Given the description of an element on the screen output the (x, y) to click on. 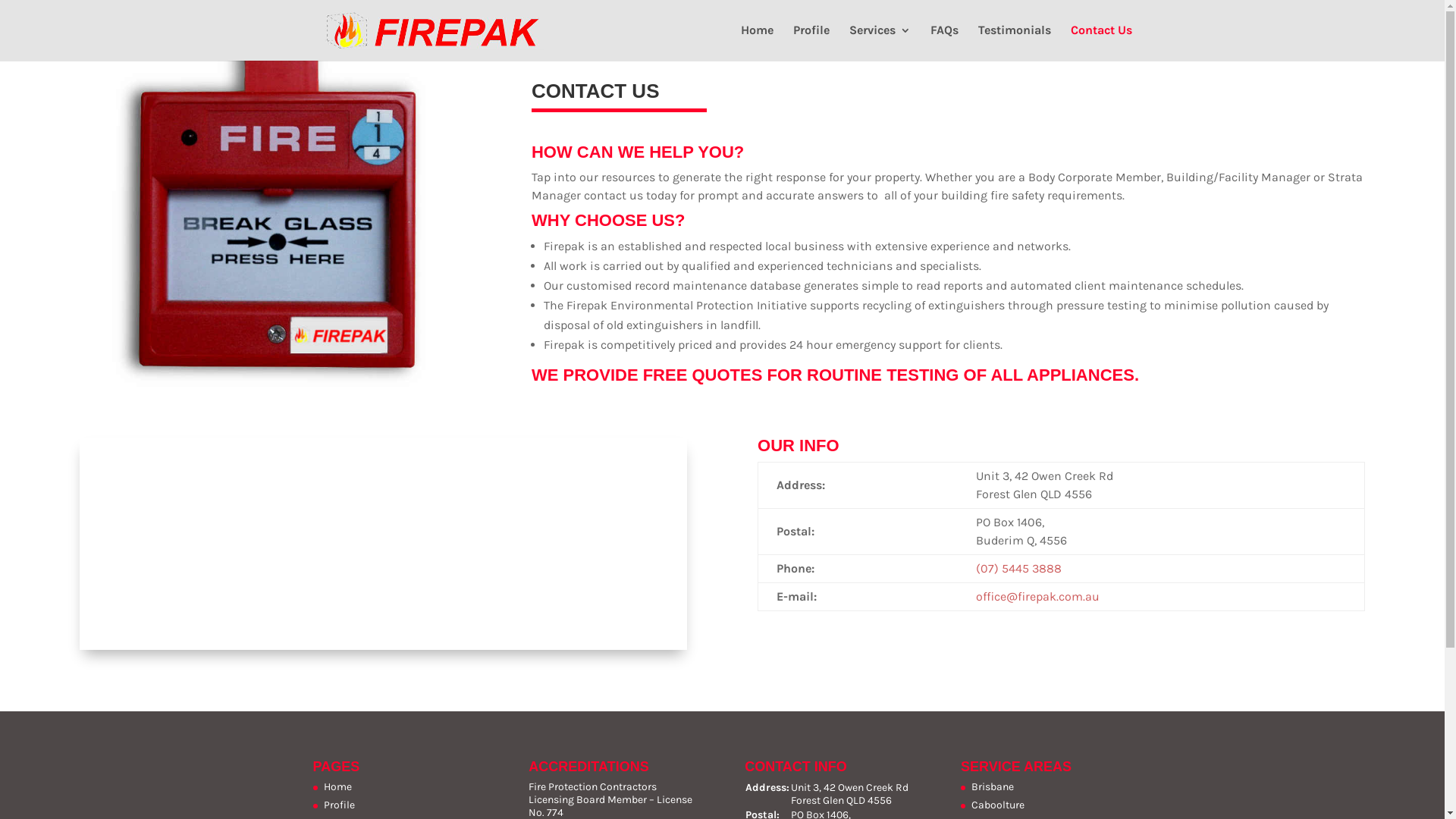
Services Element type: text (879, 42)
Profile Element type: text (338, 804)
Testimonials Element type: text (1014, 42)
Contact Us Element type: text (1101, 42)
(07) 5445 3888 Element type: text (1018, 568)
Home Element type: text (337, 786)
Home Element type: text (756, 42)
Profile Element type: text (811, 42)
FAQs Element type: text (943, 42)
office@firepak.com.au Element type: text (1037, 596)
